Given the description of an element on the screen output the (x, y) to click on. 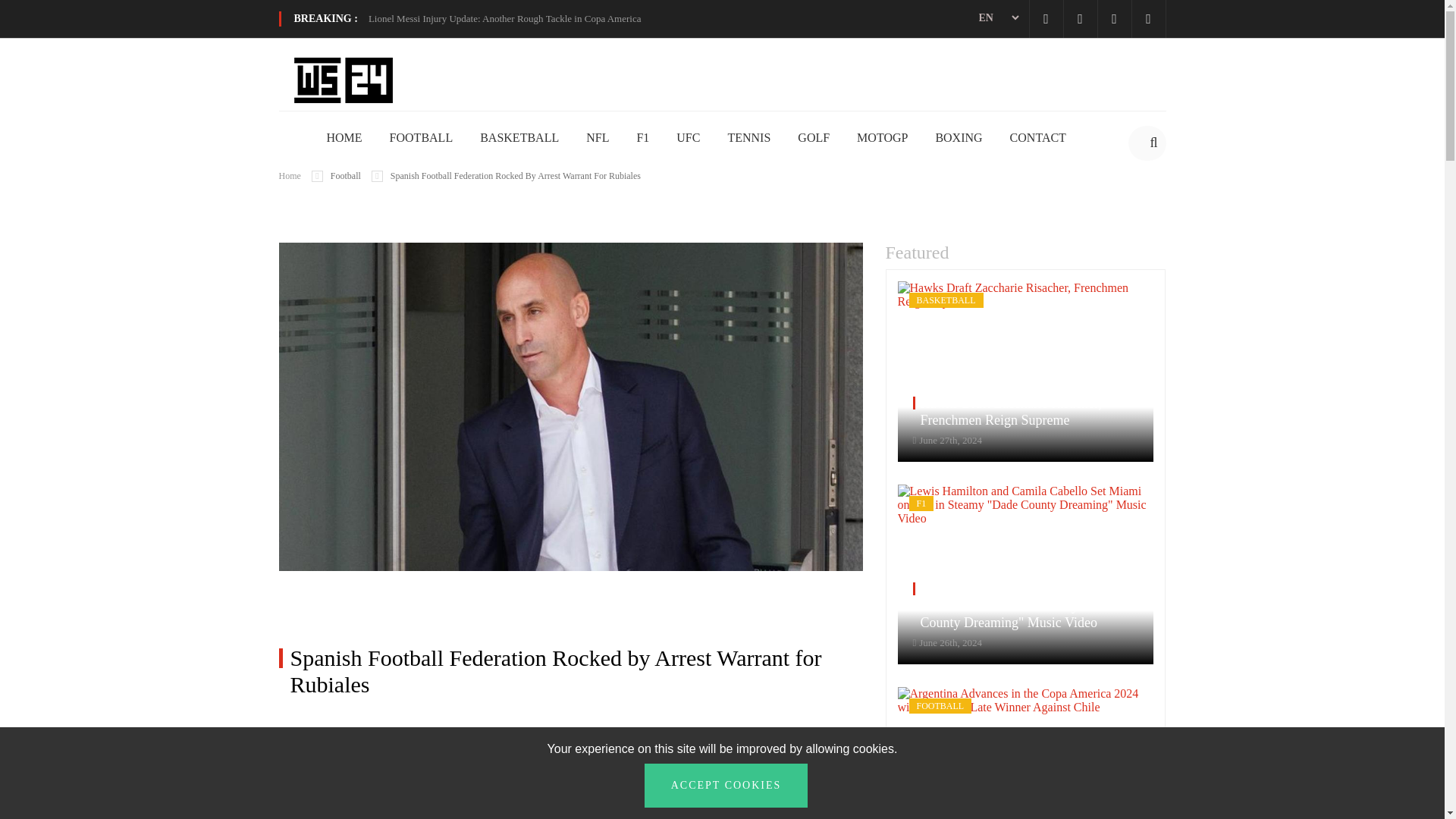
Twitter (1079, 18)
CONTACT (1037, 137)
BOXING (957, 137)
TENNIS (748, 137)
Football (421, 137)
FOOTBALL (421, 137)
Luis Rubiales (368, 797)
Tennis (748, 137)
Home (290, 175)
Basketball (519, 137)
BASKETBALL (519, 137)
MOTOGP (882, 137)
Search (1152, 142)
WorldSport24 (343, 78)
Facebook (1044, 18)
